Given the description of an element on the screen output the (x, y) to click on. 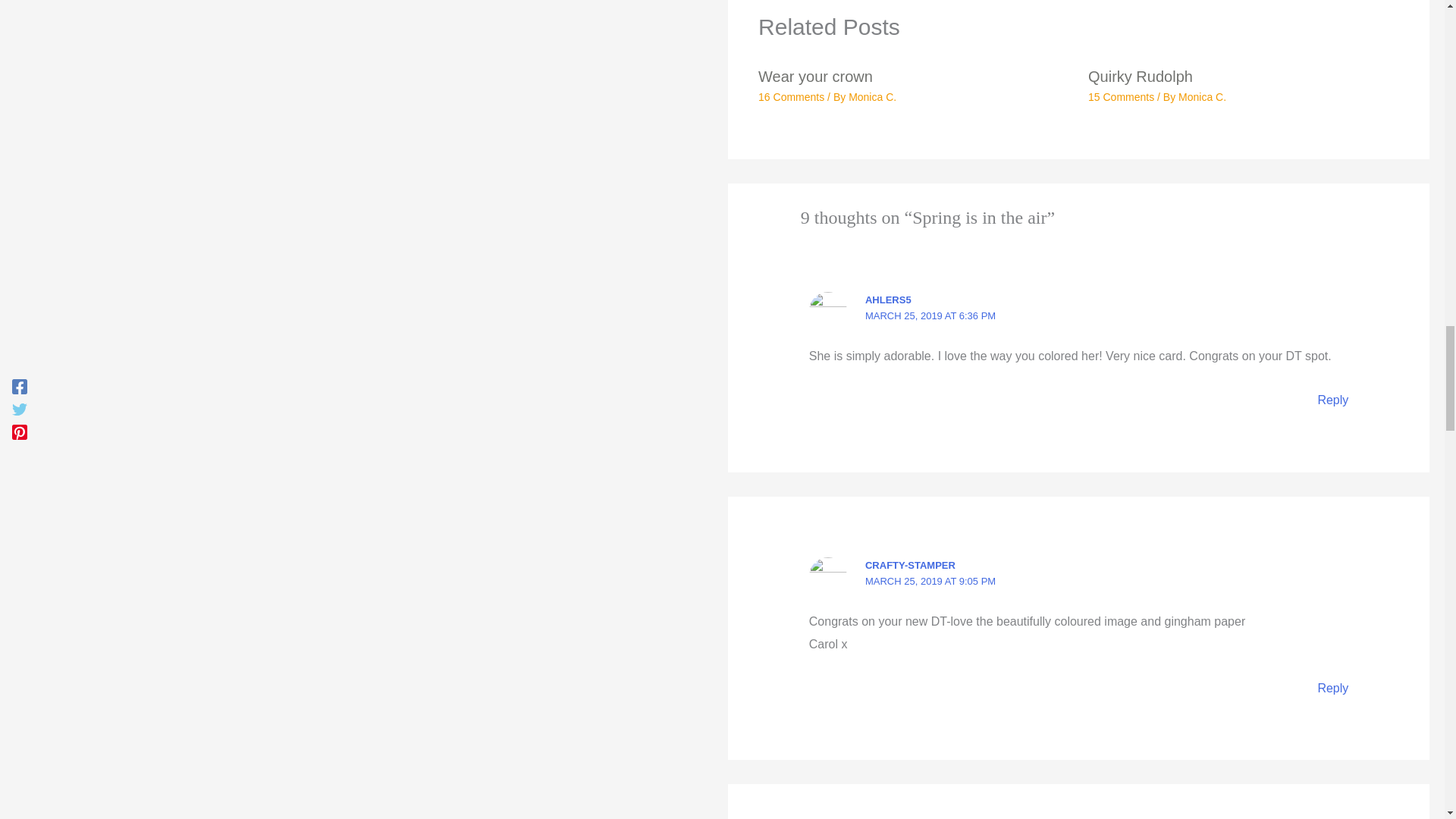
View all posts by Monica C. (872, 96)
View all posts by Monica C. (1201, 96)
